Given the description of an element on the screen output the (x, y) to click on. 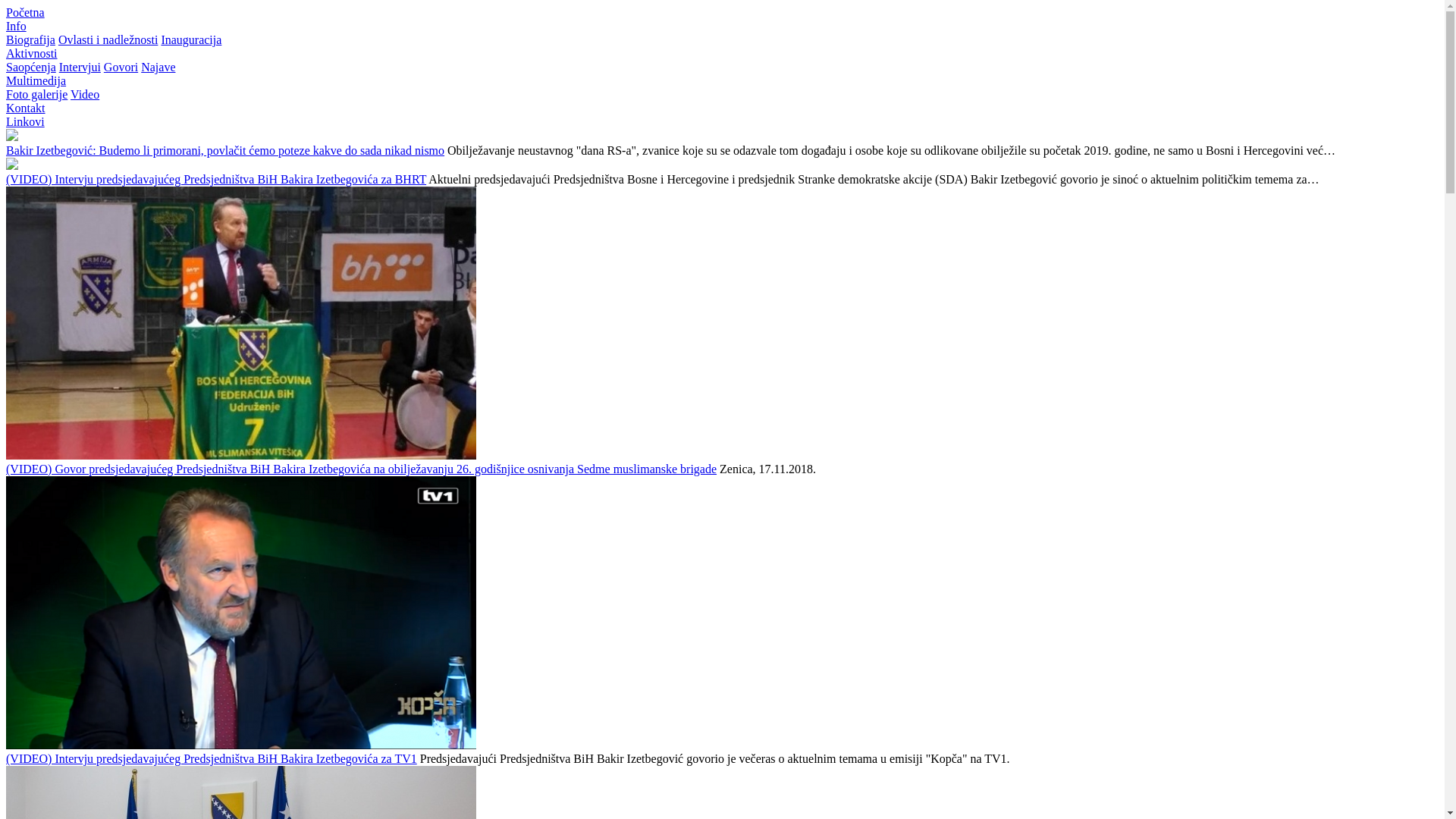
Kontakt Element type: text (25, 107)
Foto galerije Element type: text (36, 93)
Info Element type: text (16, 25)
Inauguracija Element type: text (190, 39)
Najave Element type: text (158, 66)
Biografija Element type: text (30, 39)
Video Element type: text (84, 93)
Multimedija Element type: text (35, 80)
Aktivnosti Element type: text (31, 53)
Govori Element type: text (120, 66)
Intervjui Element type: text (79, 66)
Linkovi Element type: text (25, 121)
